Given the description of an element on the screen output the (x, y) to click on. 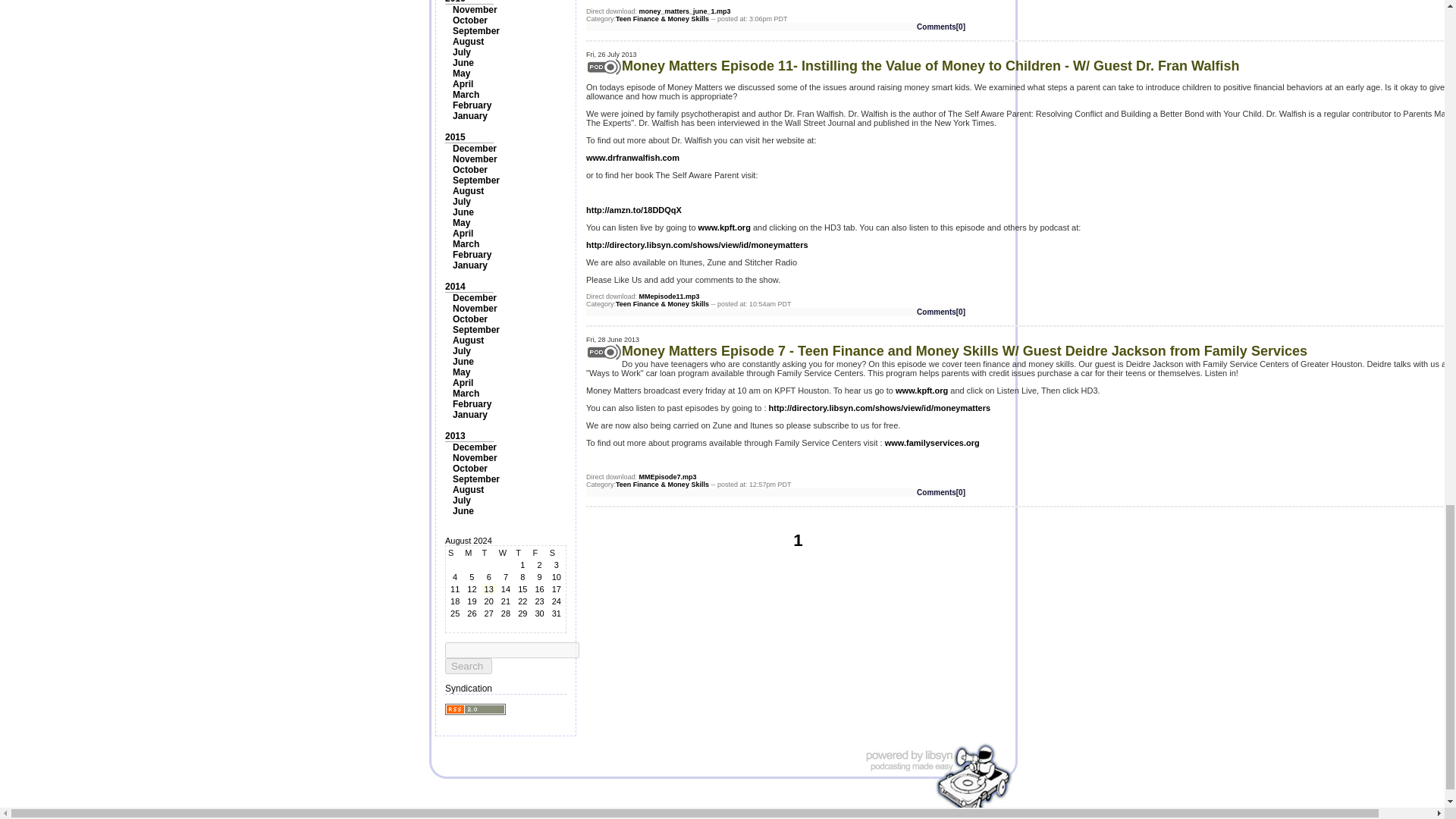
Thursday (522, 552)
Friday (539, 552)
Tuesday (488, 552)
Monday (471, 552)
Wednesday (505, 552)
Search  (468, 666)
Saturday (556, 552)
Sunday (454, 552)
